Given the description of an element on the screen output the (x, y) to click on. 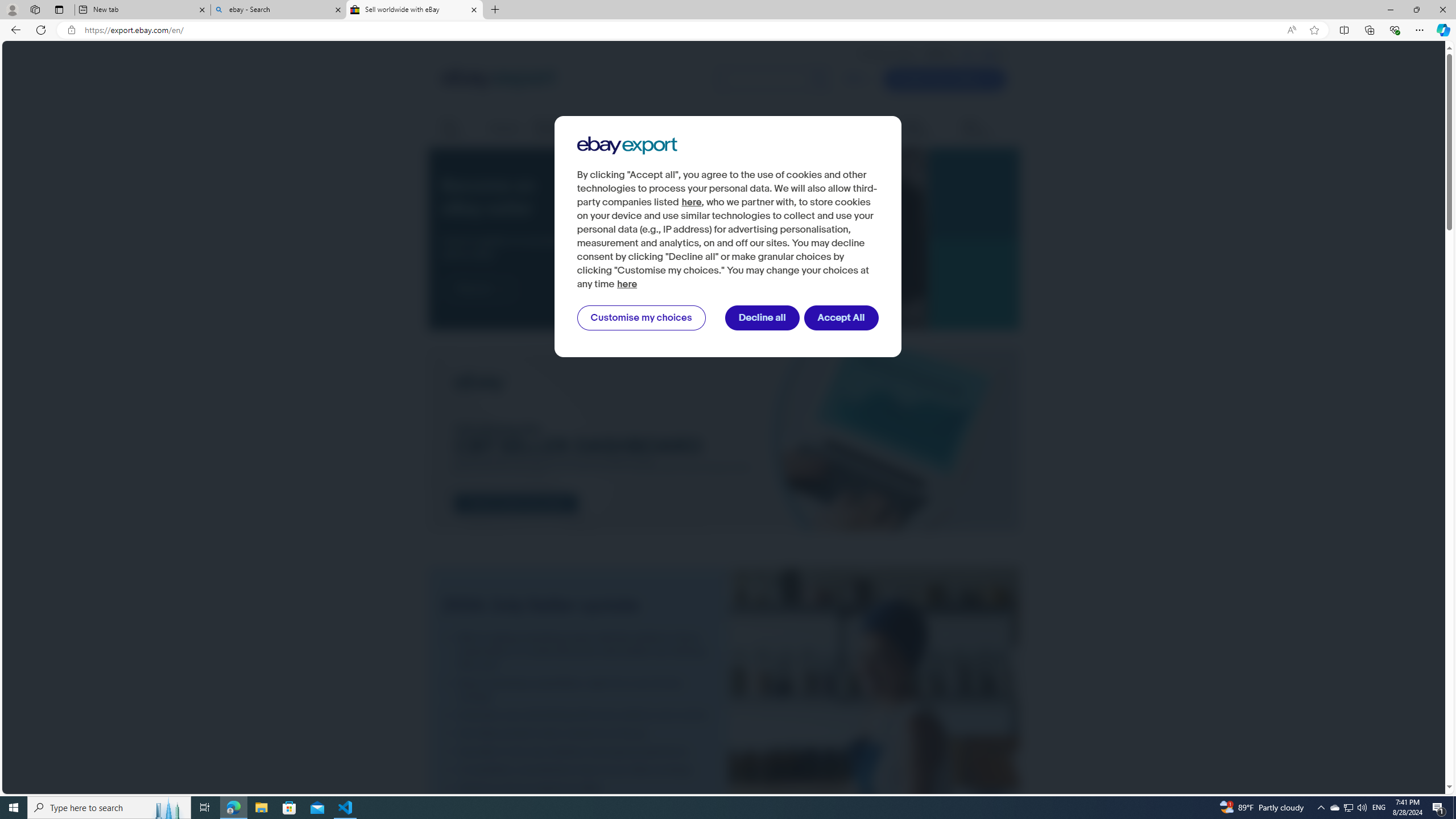
Sell worldwide with eBay (414, 9)
Marketing (869, 127)
ebay - Search (277, 9)
eBay Partners (984, 128)
Get eBay product sales research on the go (578, 733)
Class: header__logo (498, 79)
Class: search-input__icon (819, 79)
Shipping (503, 127)
A simplified, consolidated view of your eBay earnings (578, 769)
